Given the description of an element on the screen output the (x, y) to click on. 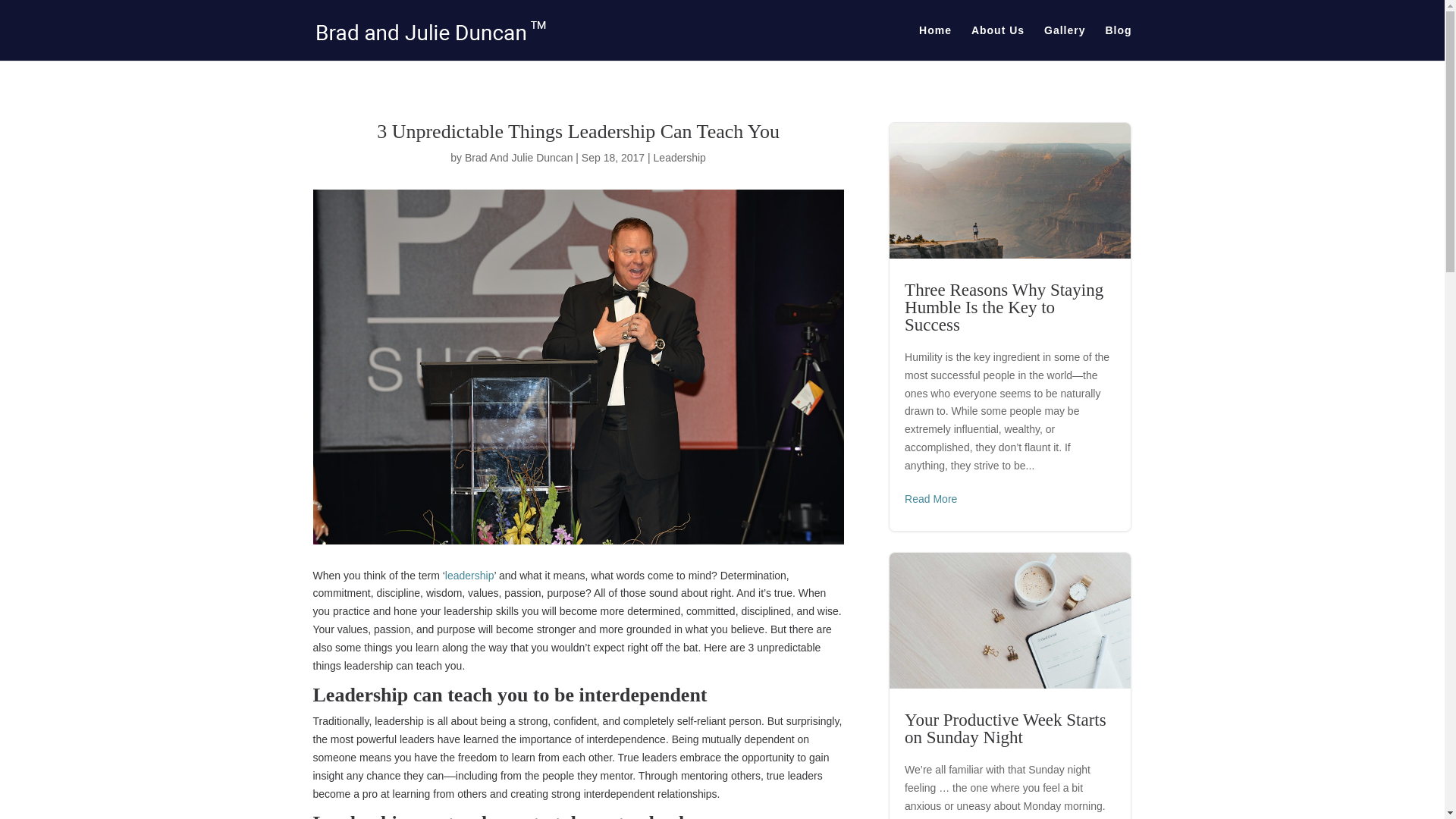
Posts by Brad And Julie Duncan (518, 157)
leadership (470, 575)
Your Productive Week Starts on Sunday Night  (1005, 728)
Three Reasons Why Staying Humble Is the Key to Success  (1003, 307)
Gallery (1063, 42)
Leadership (679, 157)
About Us (998, 42)
Home (935, 42)
Brad And Julie Duncan (518, 157)
Read More (930, 499)
